Given the description of an element on the screen output the (x, y) to click on. 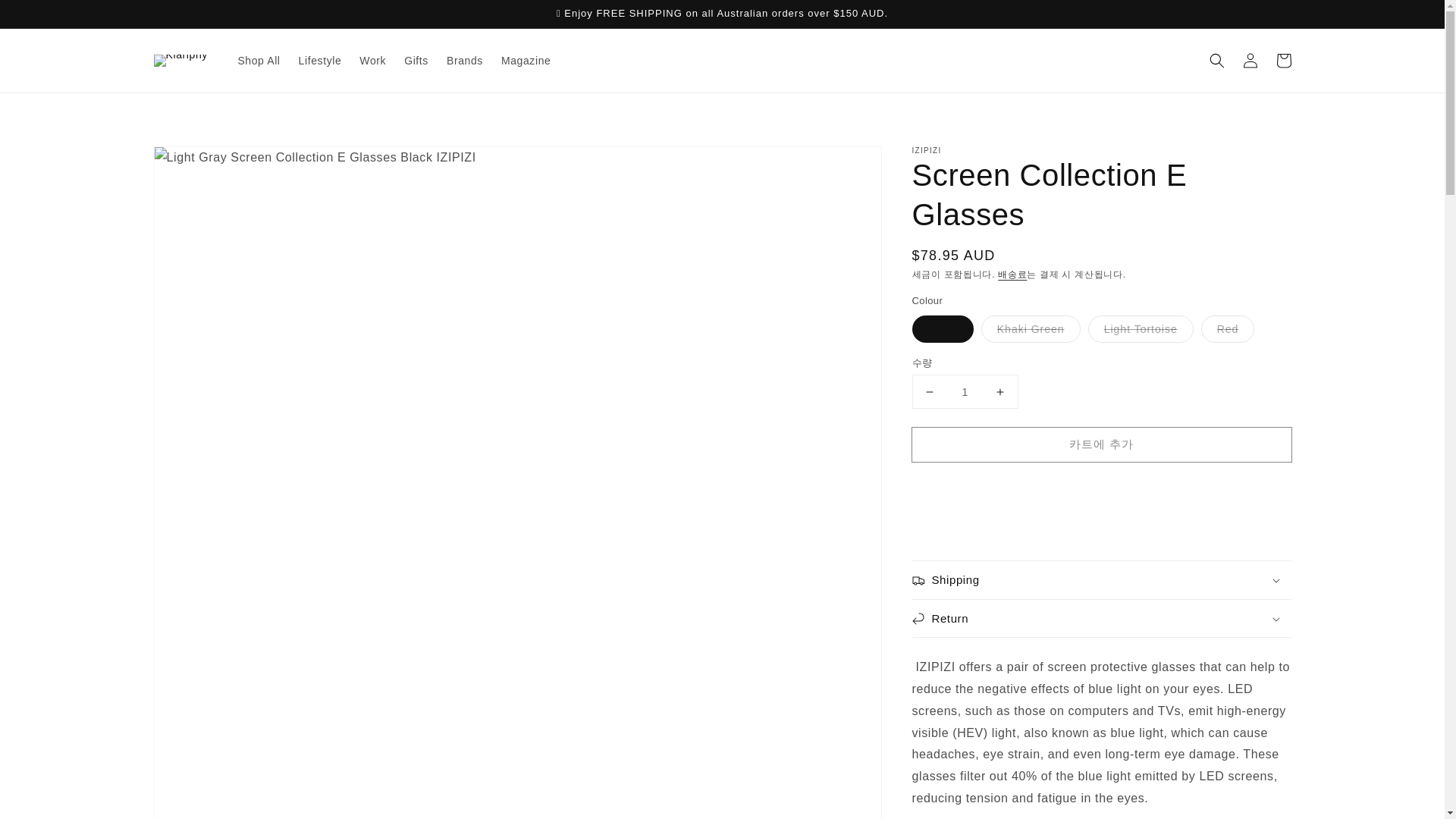
Gifts (416, 60)
Magazine (526, 60)
Lifestyle (319, 60)
Work (372, 60)
Shop All (258, 60)
1 (964, 391)
